Given the description of an element on the screen output the (x, y) to click on. 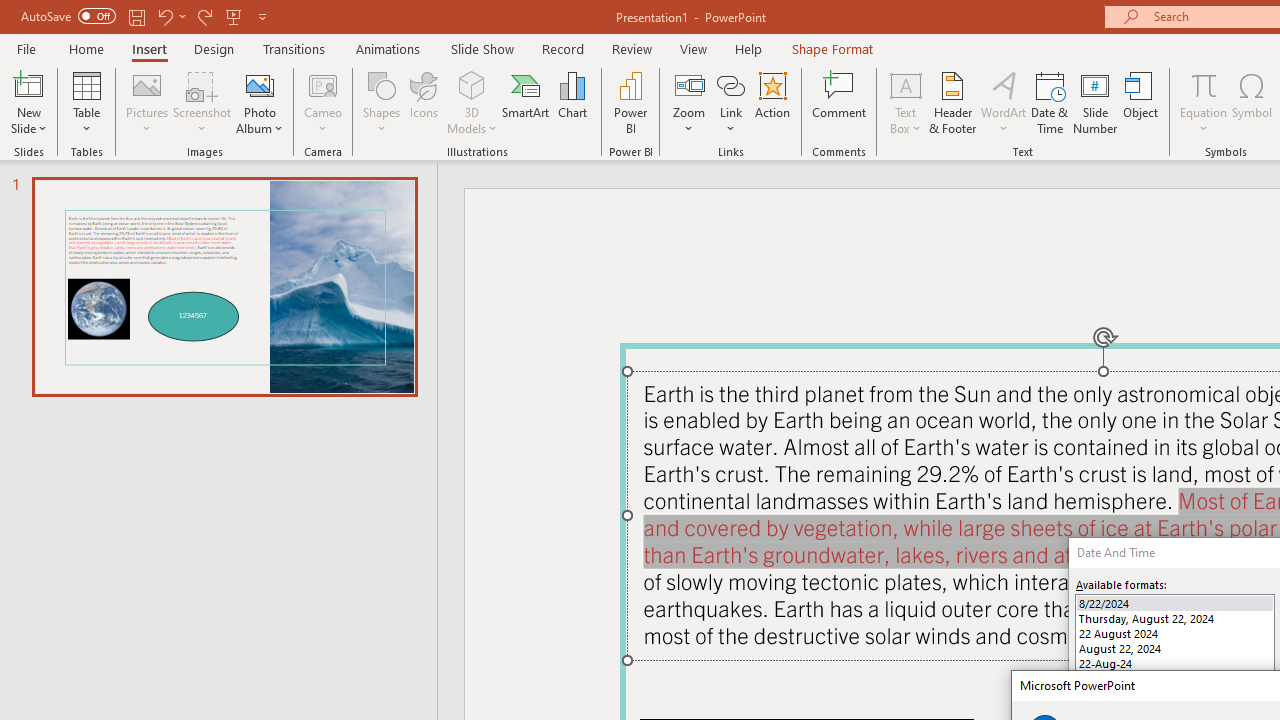
From Beginning (234, 15)
Cameo (323, 102)
Shapes (381, 102)
3D Models (472, 102)
Screenshot (202, 102)
Zoom (689, 102)
SmartArt... (525, 102)
Save (136, 15)
Insert (149, 48)
Date & Time... (1050, 102)
22 August 2024 (1174, 632)
